Given the description of an element on the screen output the (x, y) to click on. 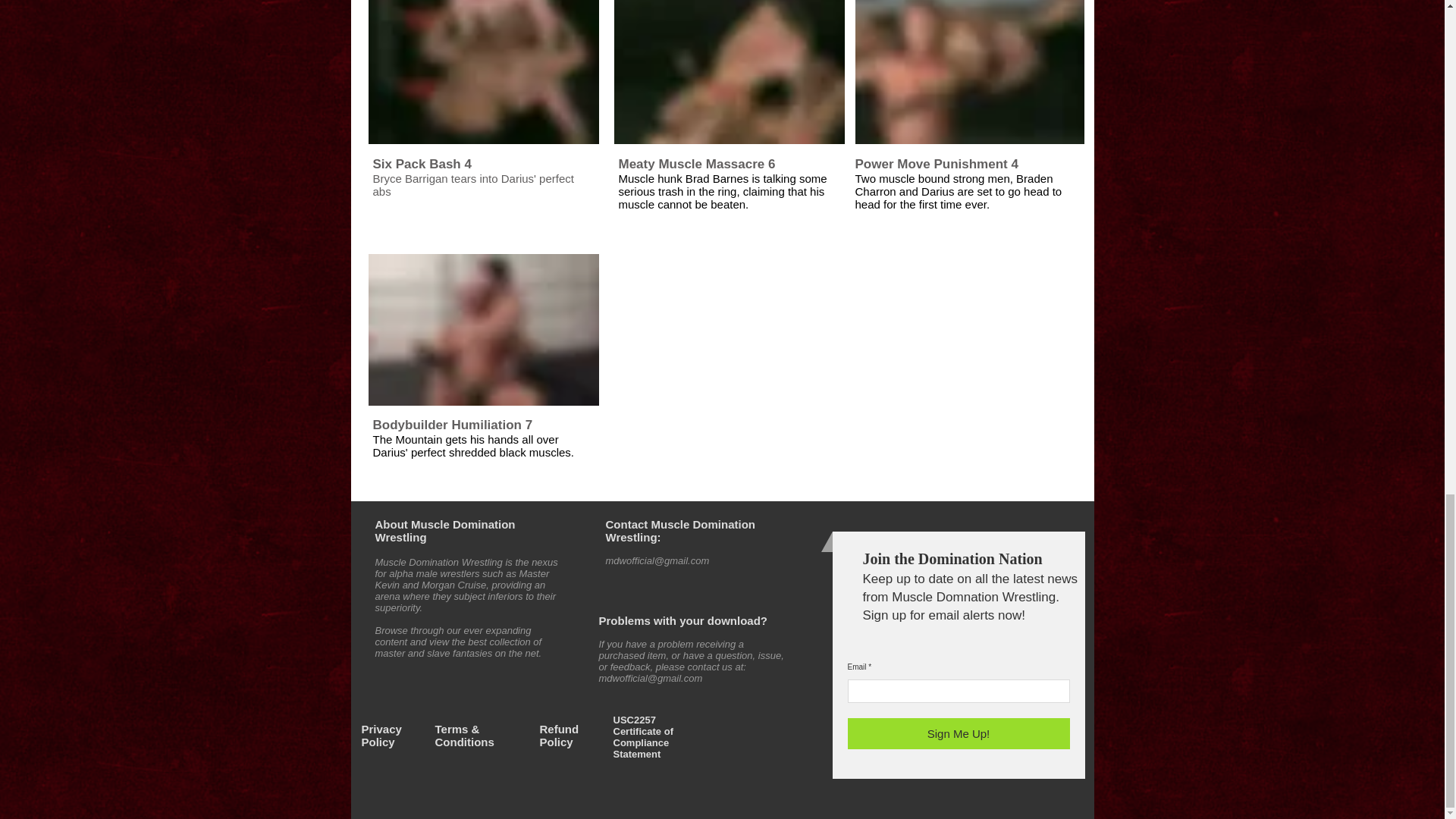
Chat via Skype (757, 548)
